Given the description of an element on the screen output the (x, y) to click on. 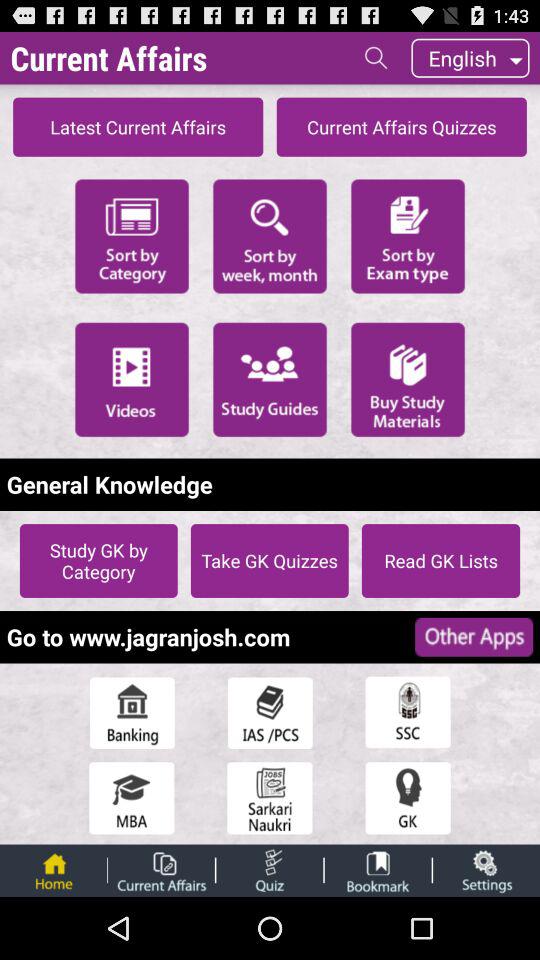
launch icon to the left of read gk lists item (269, 560)
